Given the description of an element on the screen output the (x, y) to click on. 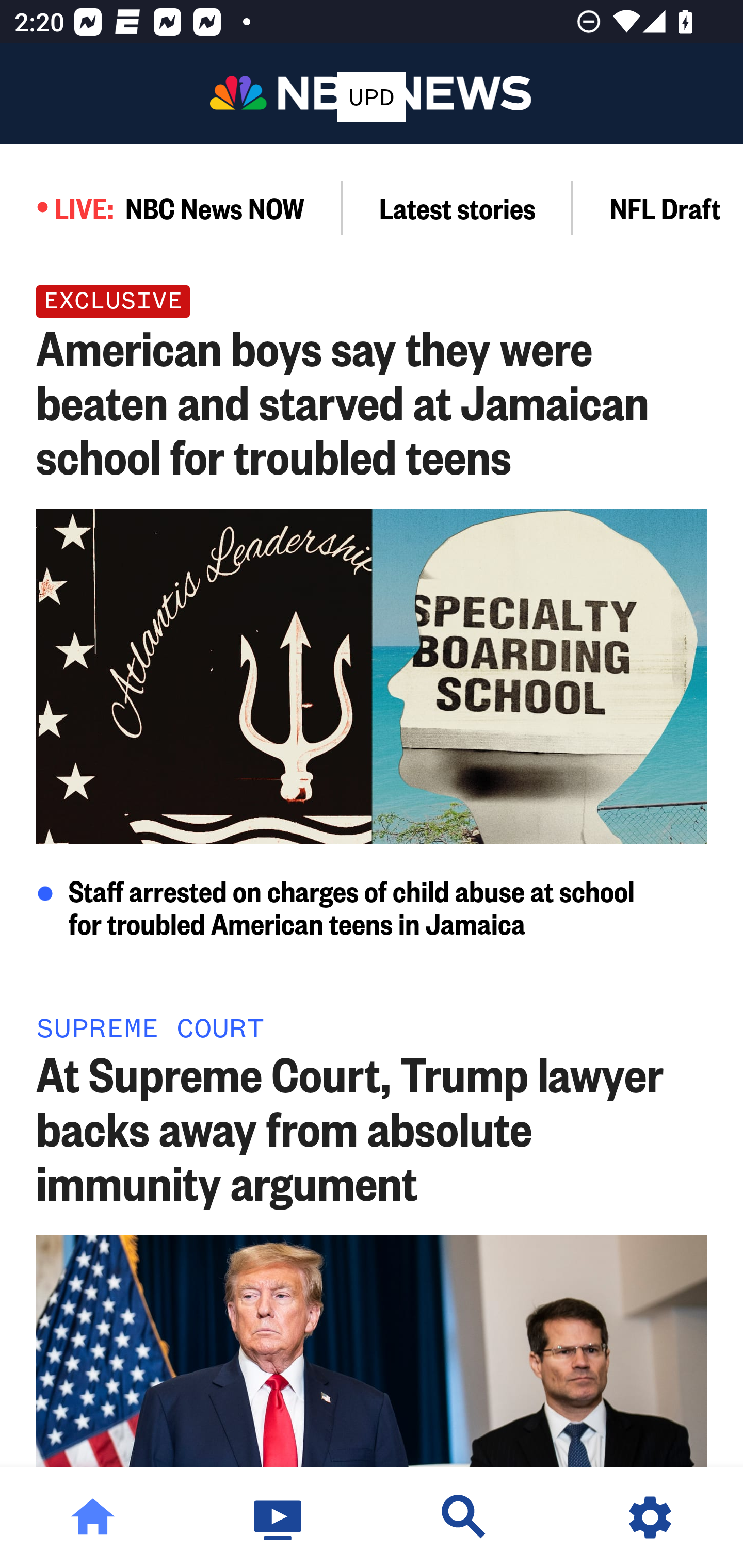
LIVE:  NBC News NOW (171, 207)
Latest stories Section,Latest stories (457, 207)
NFL Draft (658, 207)
Watch (278, 1517)
Discover (464, 1517)
Settings (650, 1517)
